Given the description of an element on the screen output the (x, y) to click on. 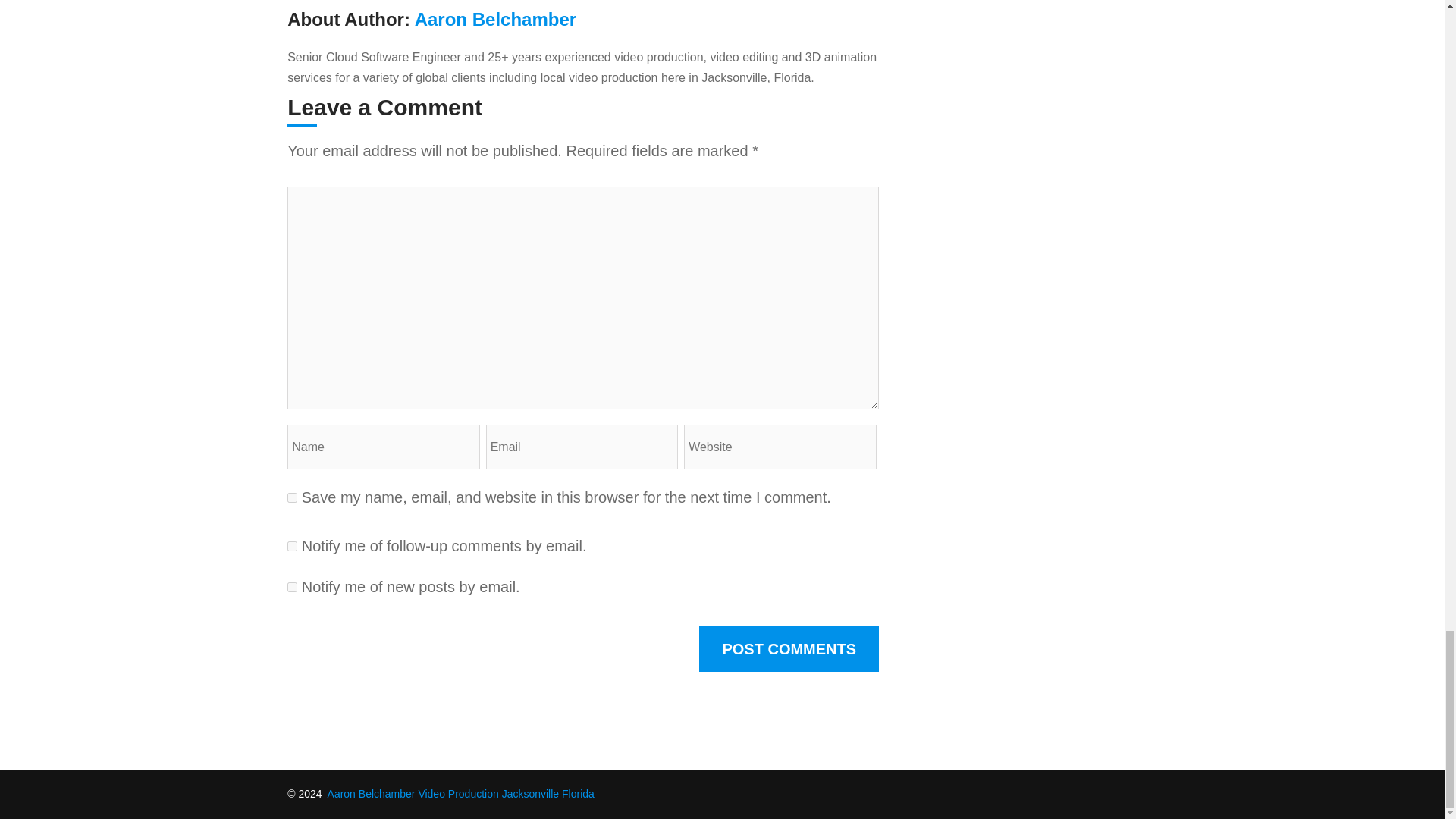
yes (291, 497)
subscribe (291, 546)
subscribe (291, 587)
Posts by Aaron Belchamber (495, 19)
Post Comments (788, 648)
